Given the description of an element on the screen output the (x, y) to click on. 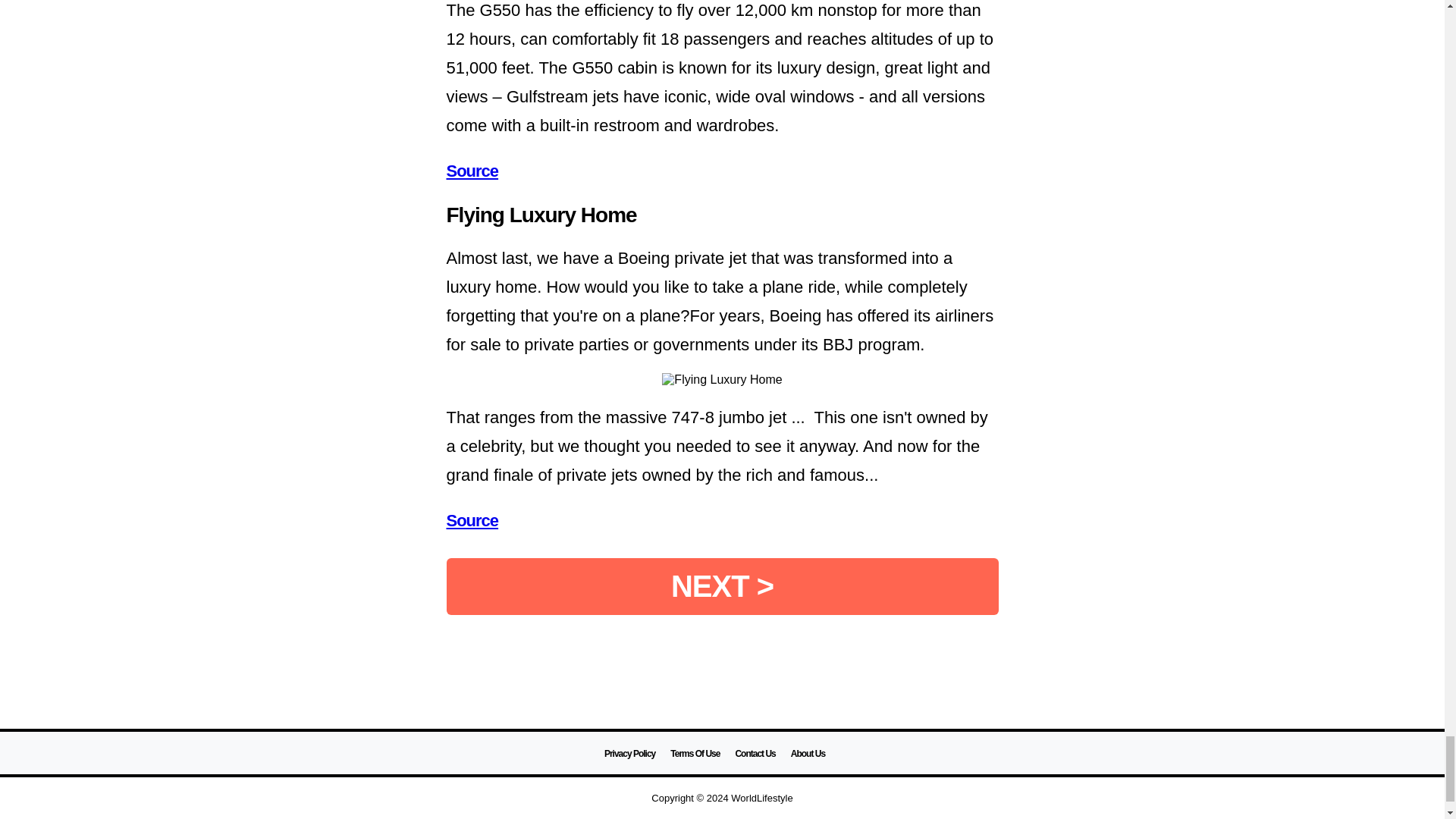
Terms Of Use (694, 753)
Source (471, 170)
About Us (807, 753)
Contact Us (754, 753)
Privacy Policy (629, 753)
Source (471, 520)
